Given the description of an element on the screen output the (x, y) to click on. 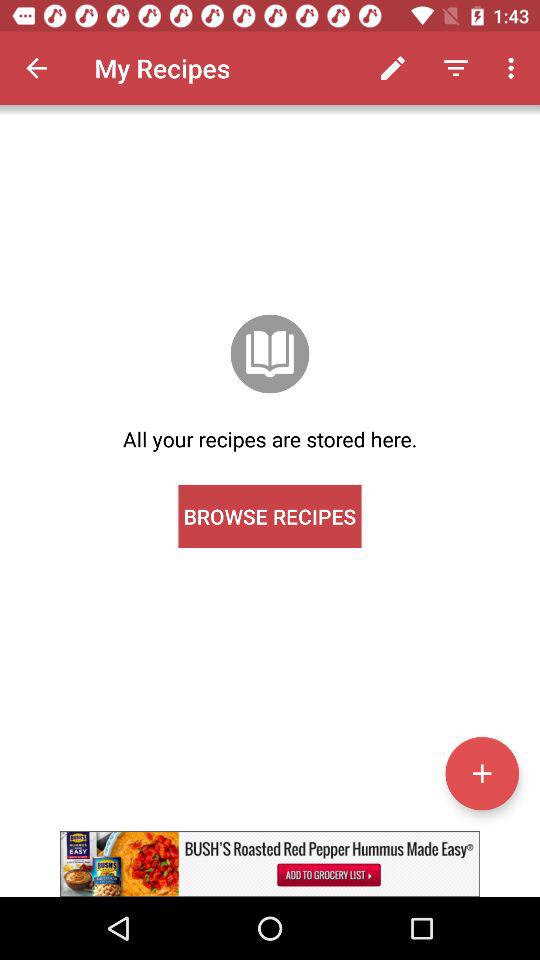
go back (36, 68)
